Given the description of an element on the screen output the (x, y) to click on. 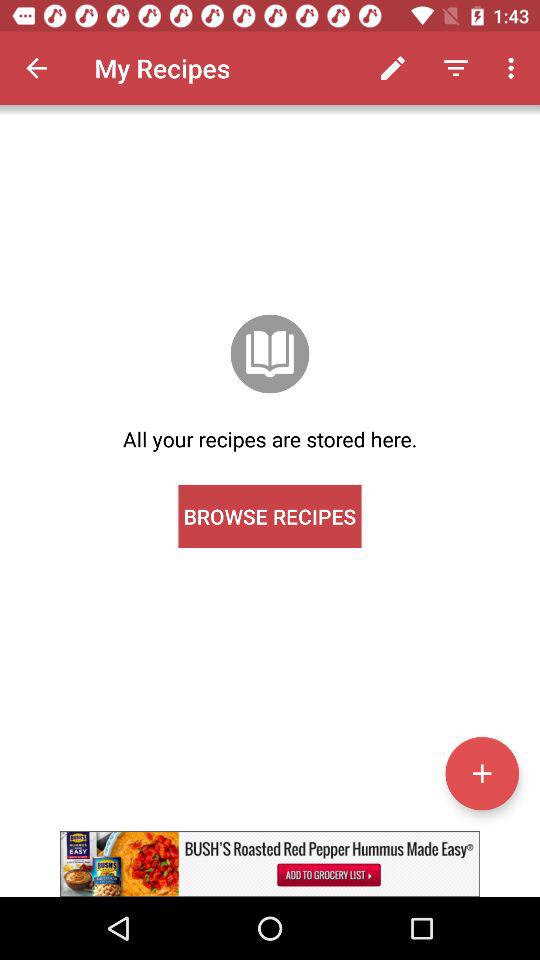
go back (36, 68)
